Given the description of an element on the screen output the (x, y) to click on. 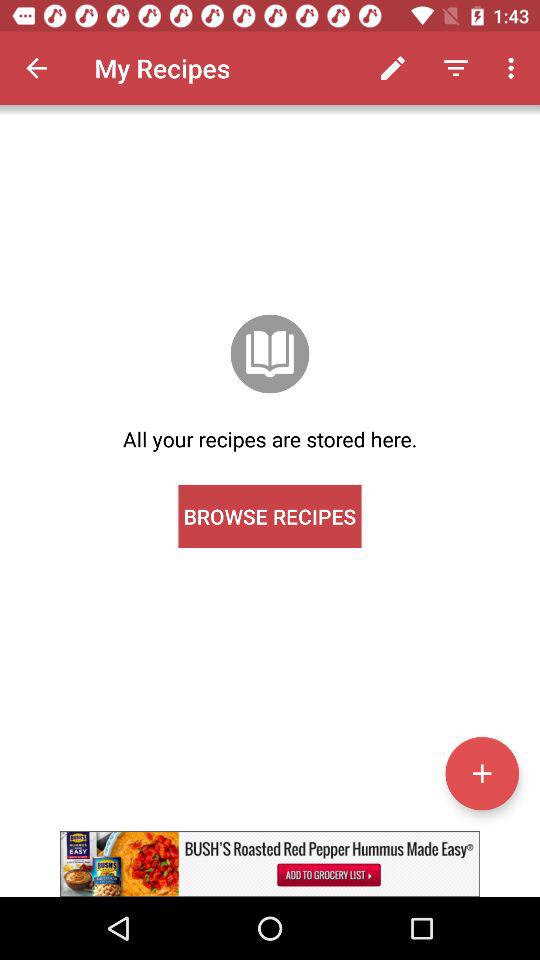
go back (36, 68)
